Given the description of an element on the screen output the (x, y) to click on. 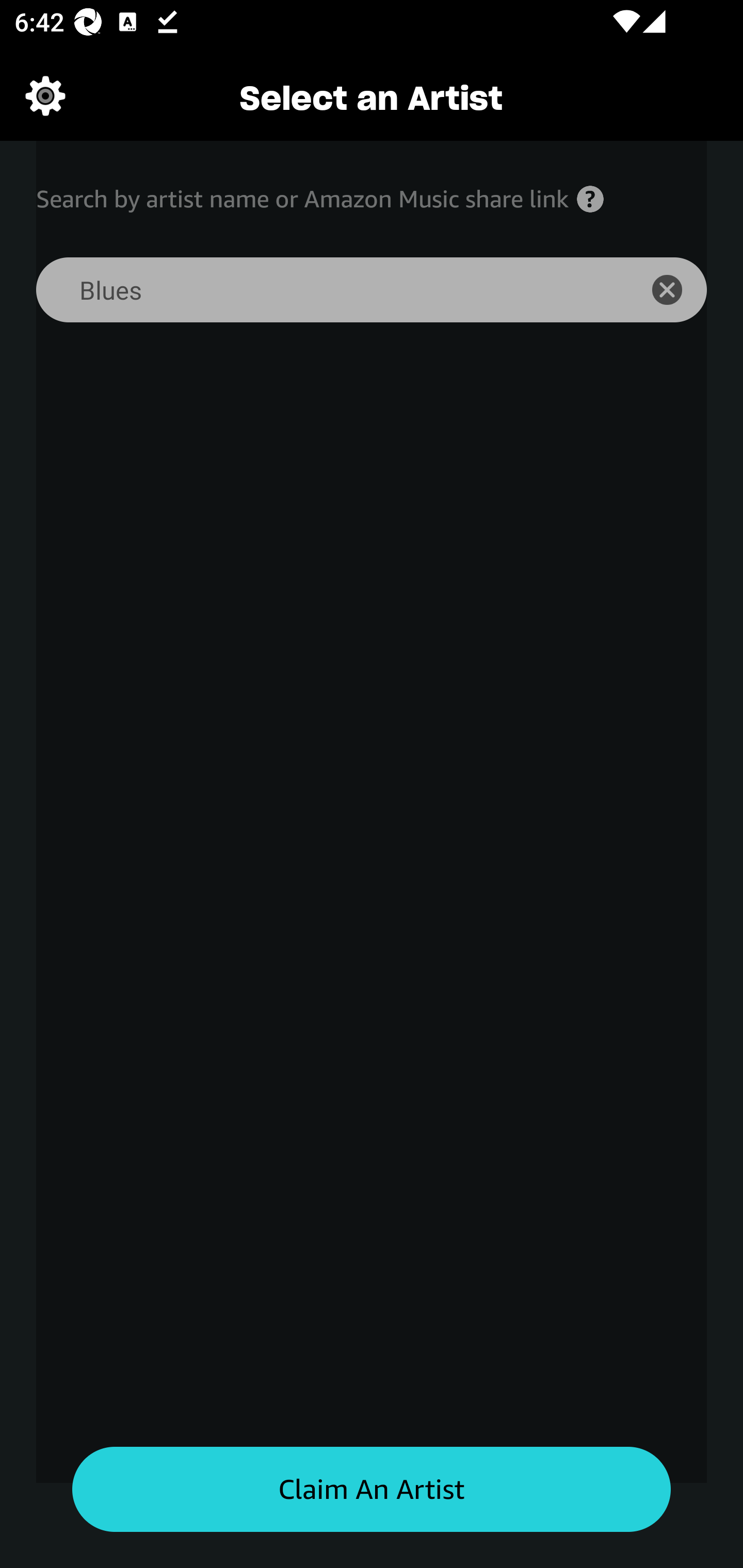
Help  icon (589, 199)
Blues Search for an artist search bar (324, 290)
 icon (677, 290)
Claim an artist button Claim An Artist (371, 1489)
